Given the description of an element on the screen output the (x, y) to click on. 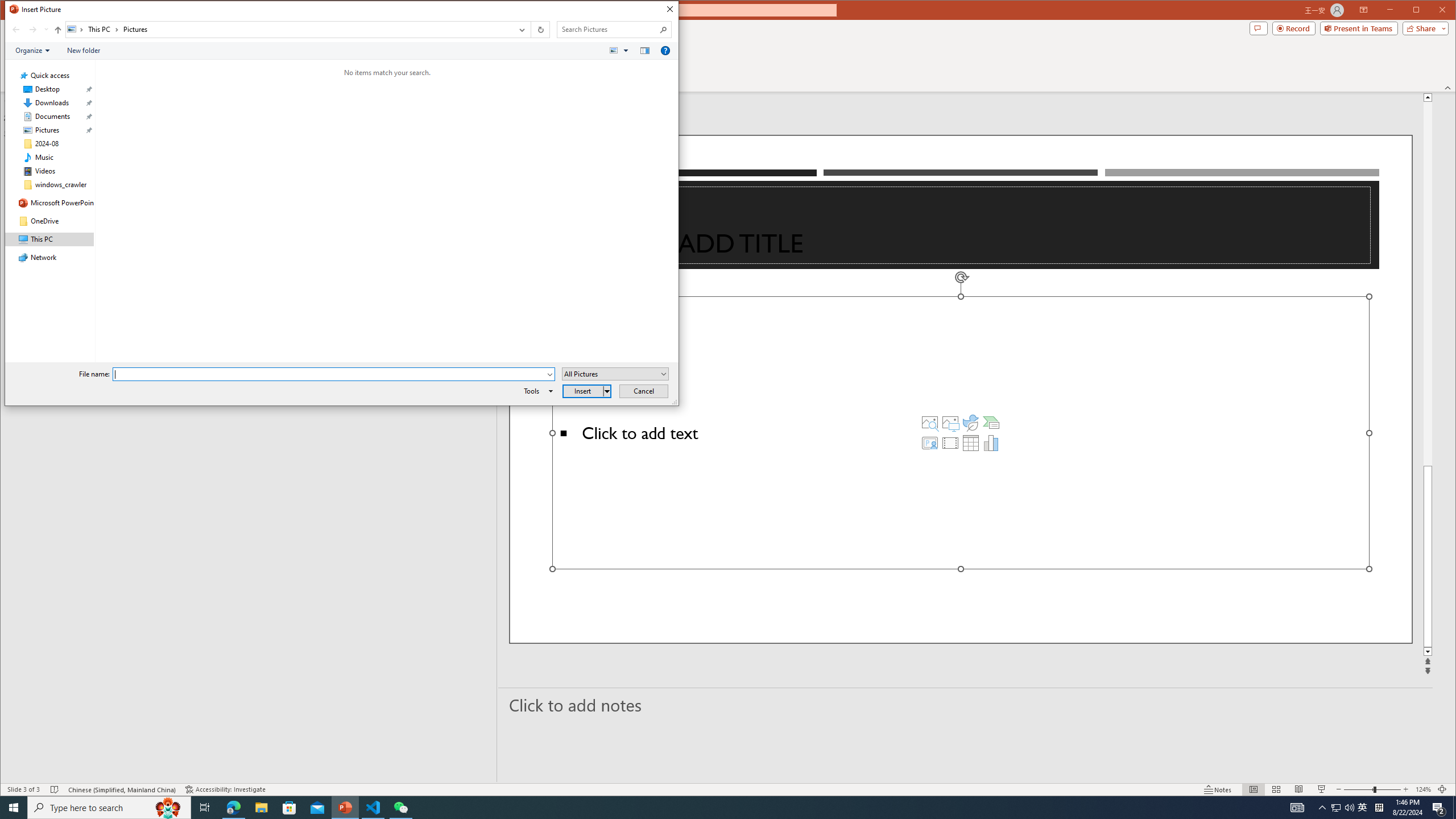
Insert an Icon (970, 422)
Insert Video (949, 443)
Command Module (341, 50)
Stock Images (929, 422)
Close (668, 9)
Recent locations (45, 29)
Zoom (1371, 789)
&Help (665, 50)
New folder (83, 50)
All locations (75, 29)
Tray Input Indicator - Chinese (Simplified, China) (1378, 807)
Zoom In (1405, 789)
Search (663, 29)
Cancel (643, 391)
